Given the description of an element on the screen output the (x, y) to click on. 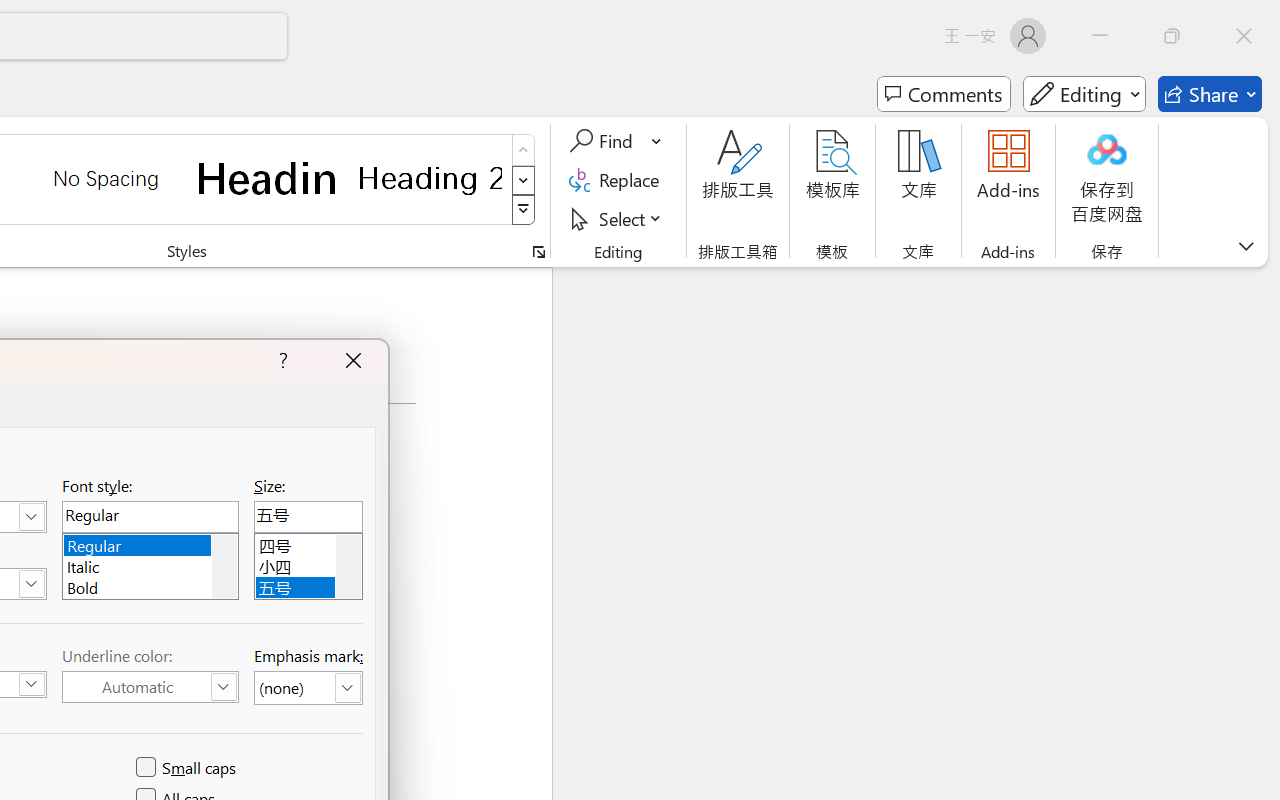
Font style: (150, 516)
Bold (150, 585)
Underline Color (Automatic) (150, 687)
Row up (523, 150)
AutomationID: 1795 (223, 566)
